Given the description of an element on the screen output the (x, y) to click on. 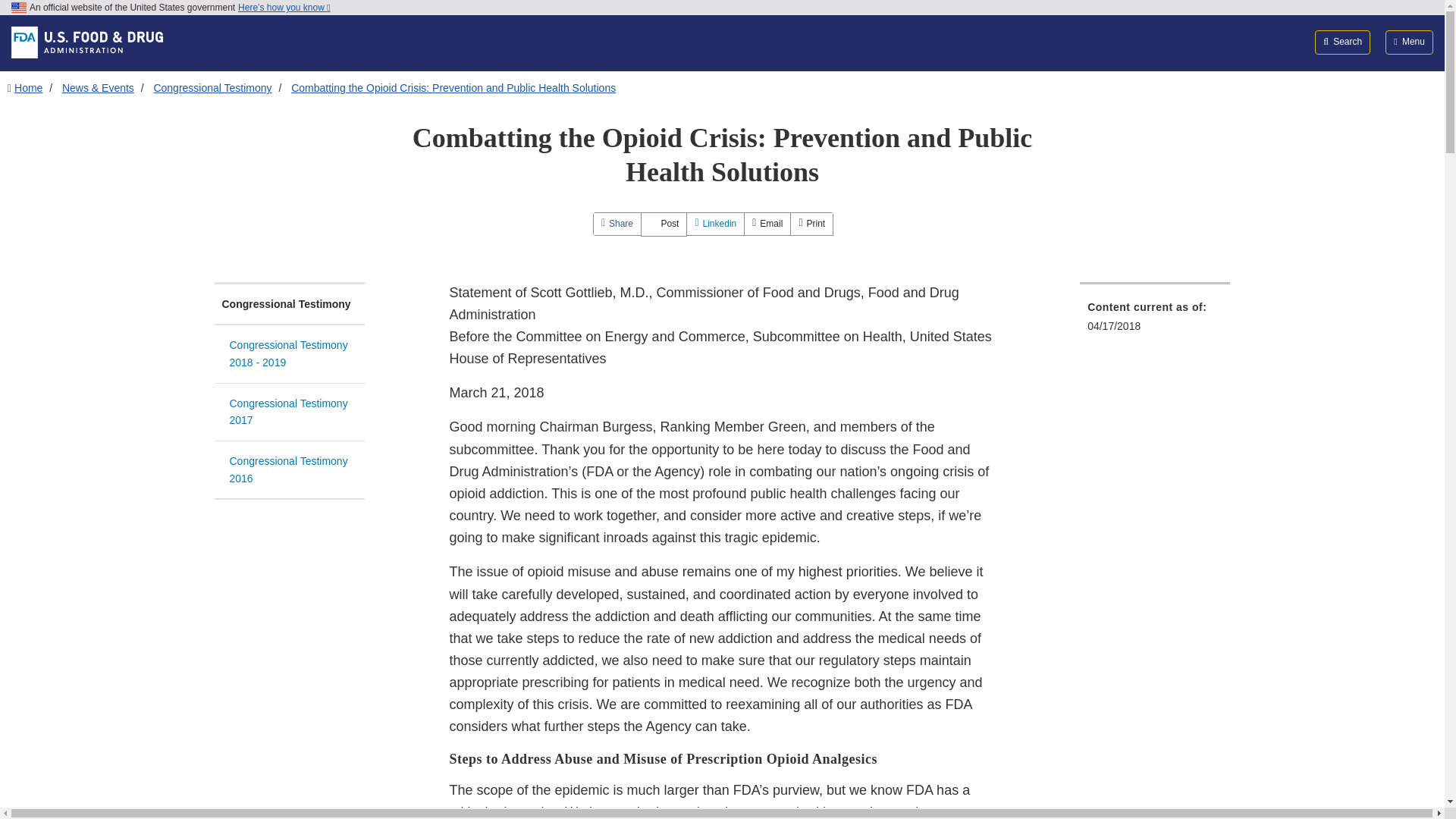
  Menu (1409, 42)
  Search (1342, 42)
Print this page (811, 223)
